Given the description of an element on the screen output the (x, y) to click on. 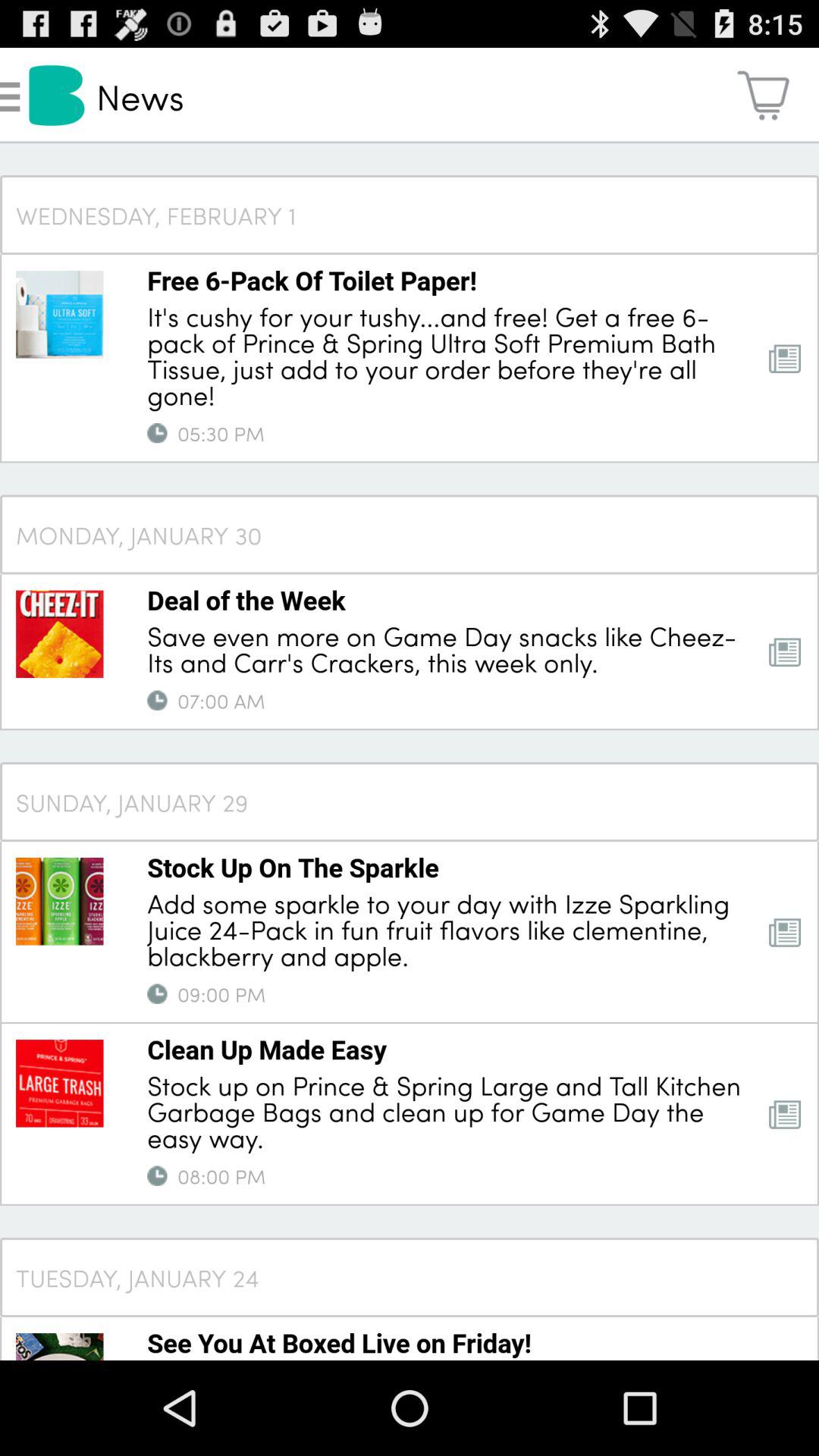
press the item above the wednesday, february 1 icon (763, 95)
